Given the description of an element on the screen output the (x, y) to click on. 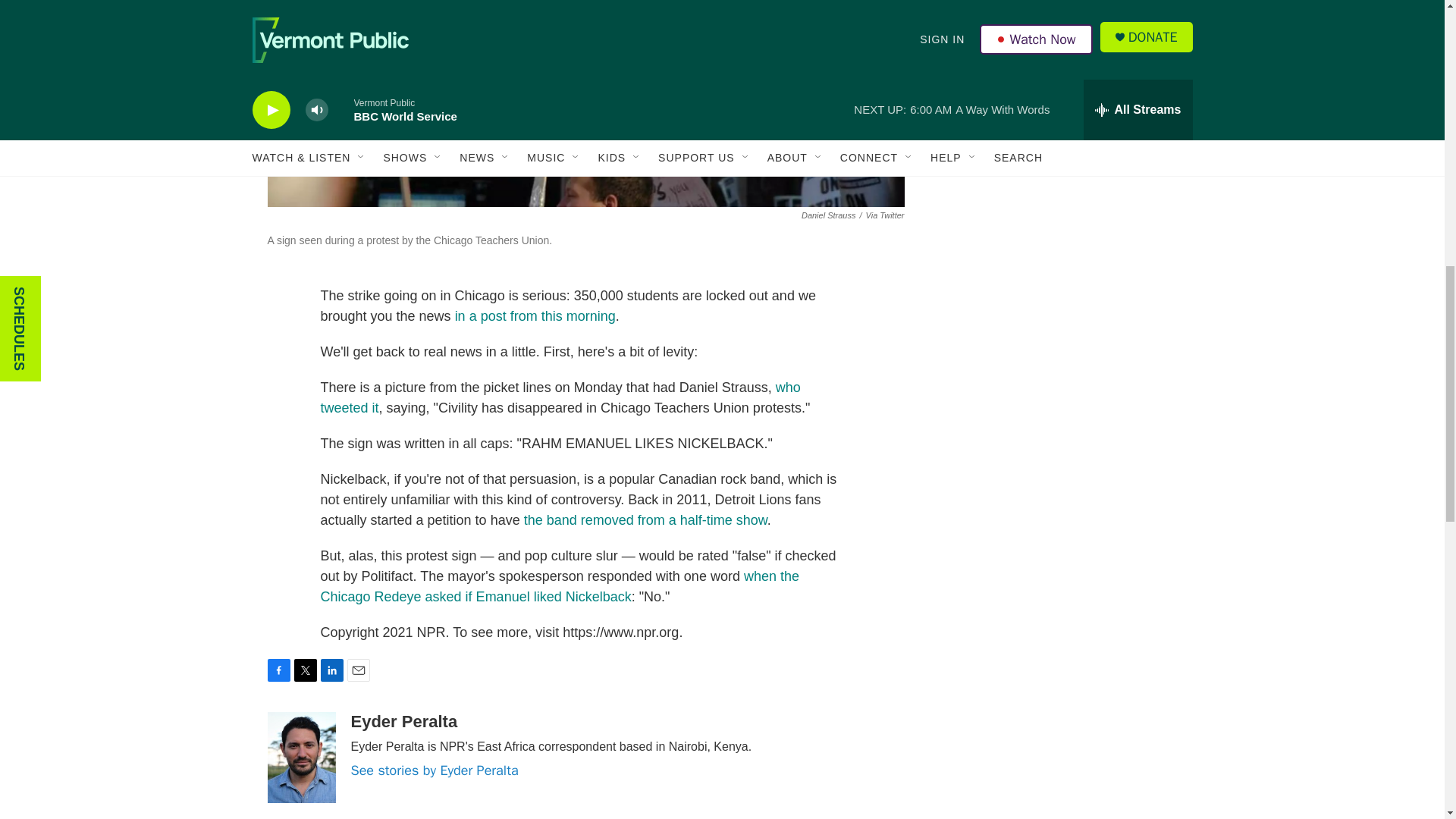
3rd party ad content (1062, 124)
3rd party ad content (1062, 343)
